Given the description of an element on the screen output the (x, y) to click on. 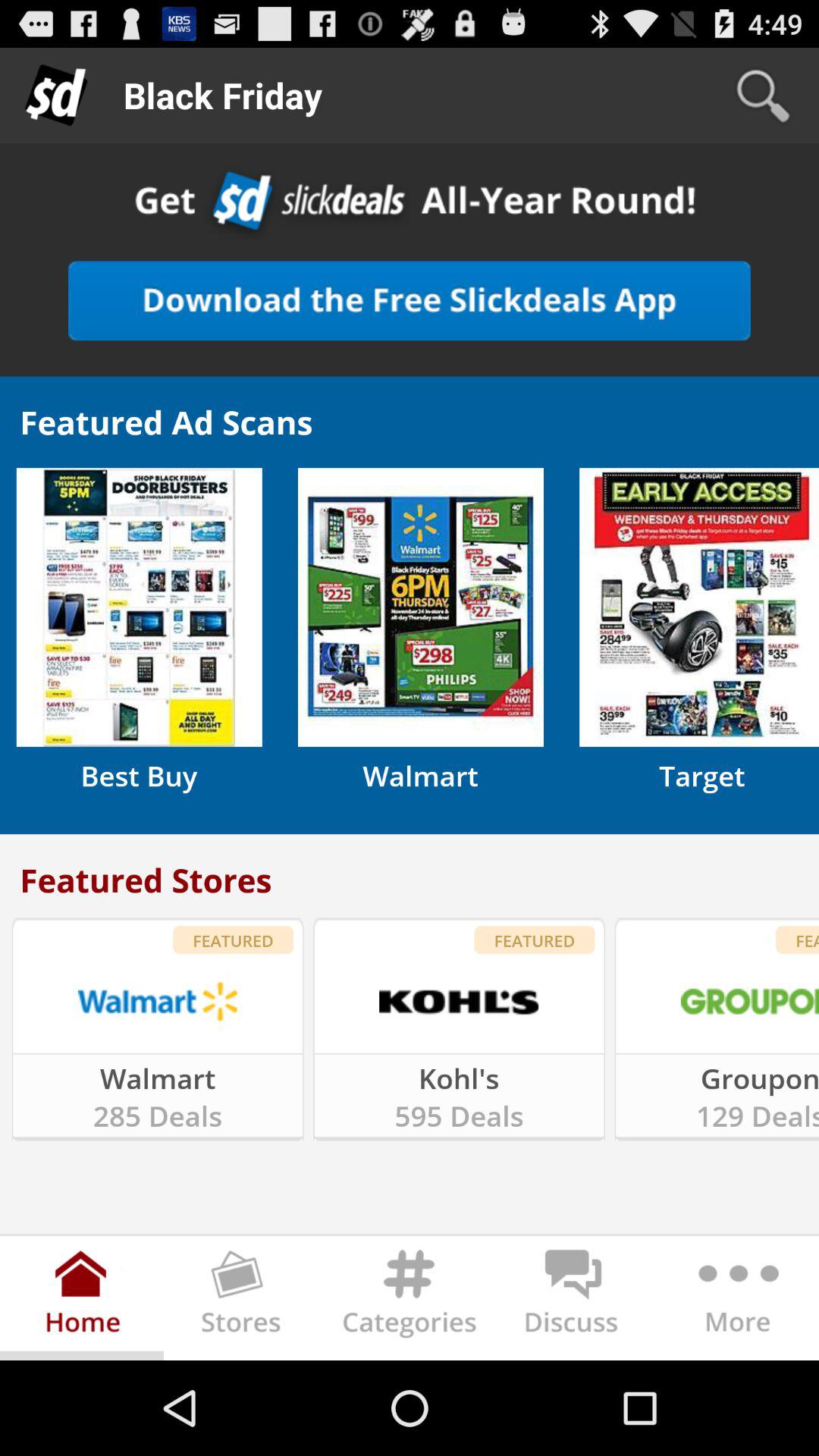
download (409, 300)
